Given the description of an element on the screen output the (x, y) to click on. 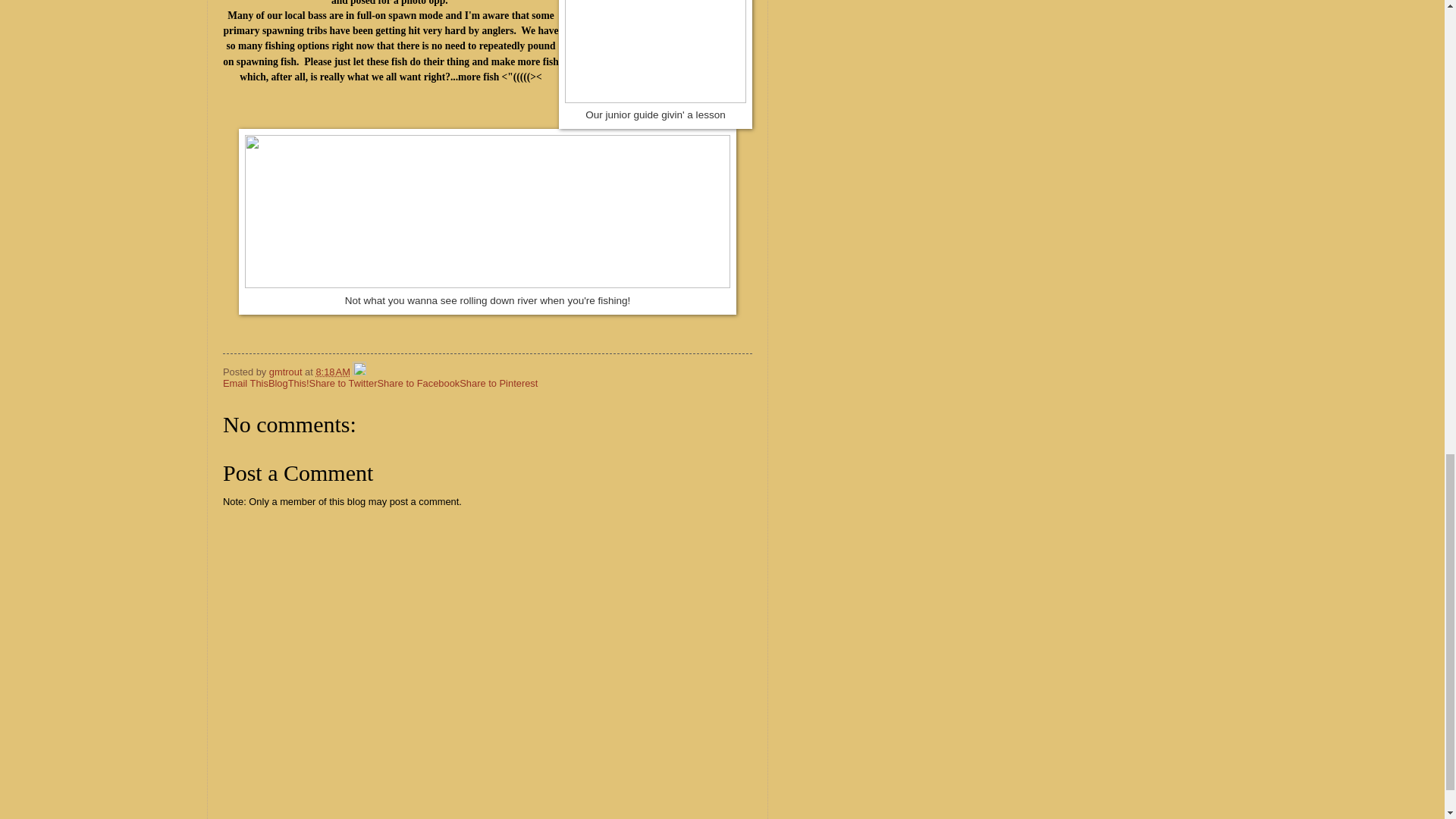
Email This (244, 383)
author profile (286, 371)
gmtrout (286, 371)
Share to Twitter (342, 383)
Edit Post (359, 371)
Email This (244, 383)
Share to Facebook (418, 383)
Share to Facebook (418, 383)
BlogThis! (287, 383)
permanent link (332, 371)
